Given the description of an element on the screen output the (x, y) to click on. 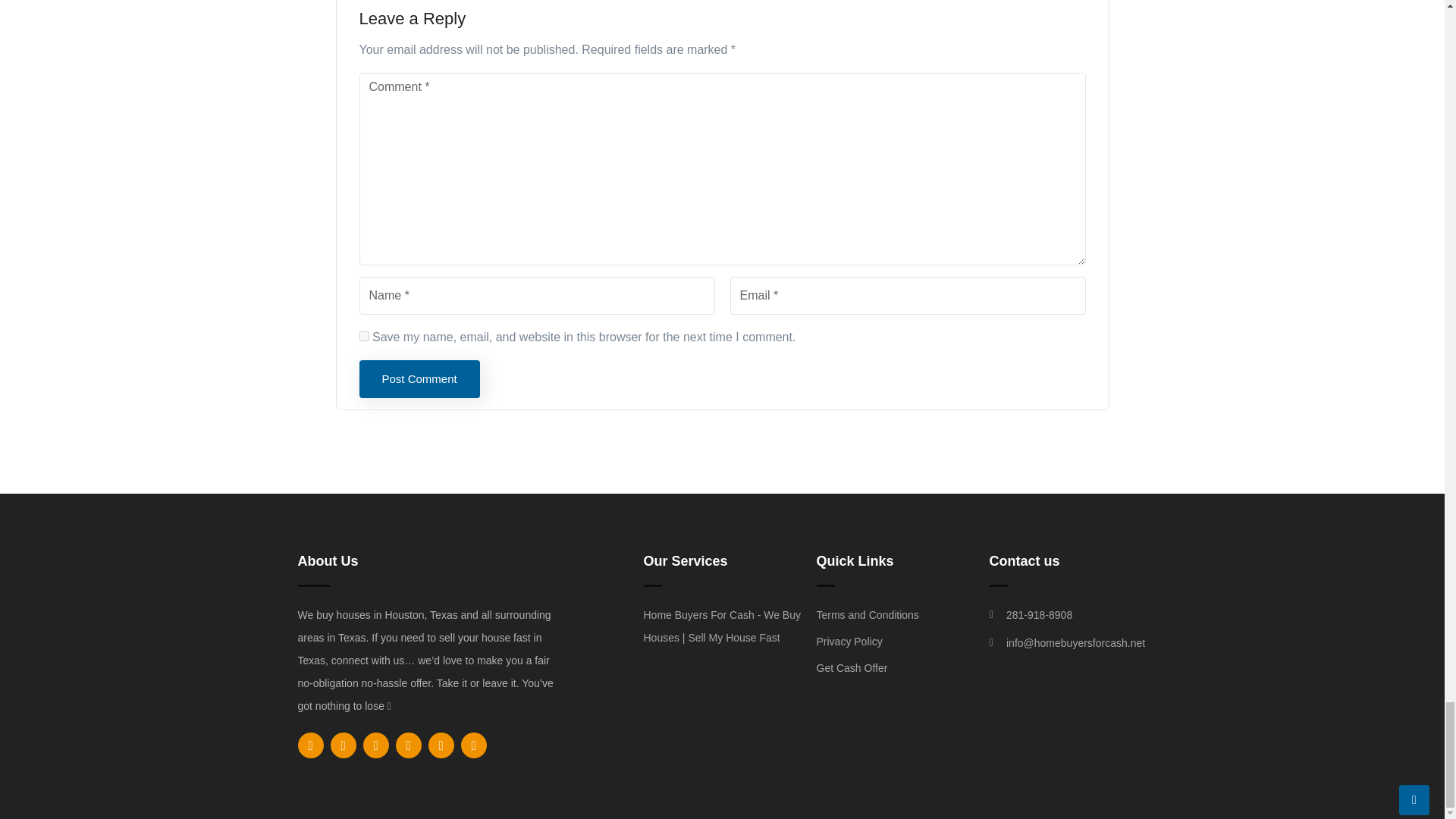
Post Comment (419, 379)
Post Comment (419, 379)
Terms and Conditions (894, 614)
yes (364, 336)
Privacy Policy (894, 640)
